Given the description of an element on the screen output the (x, y) to click on. 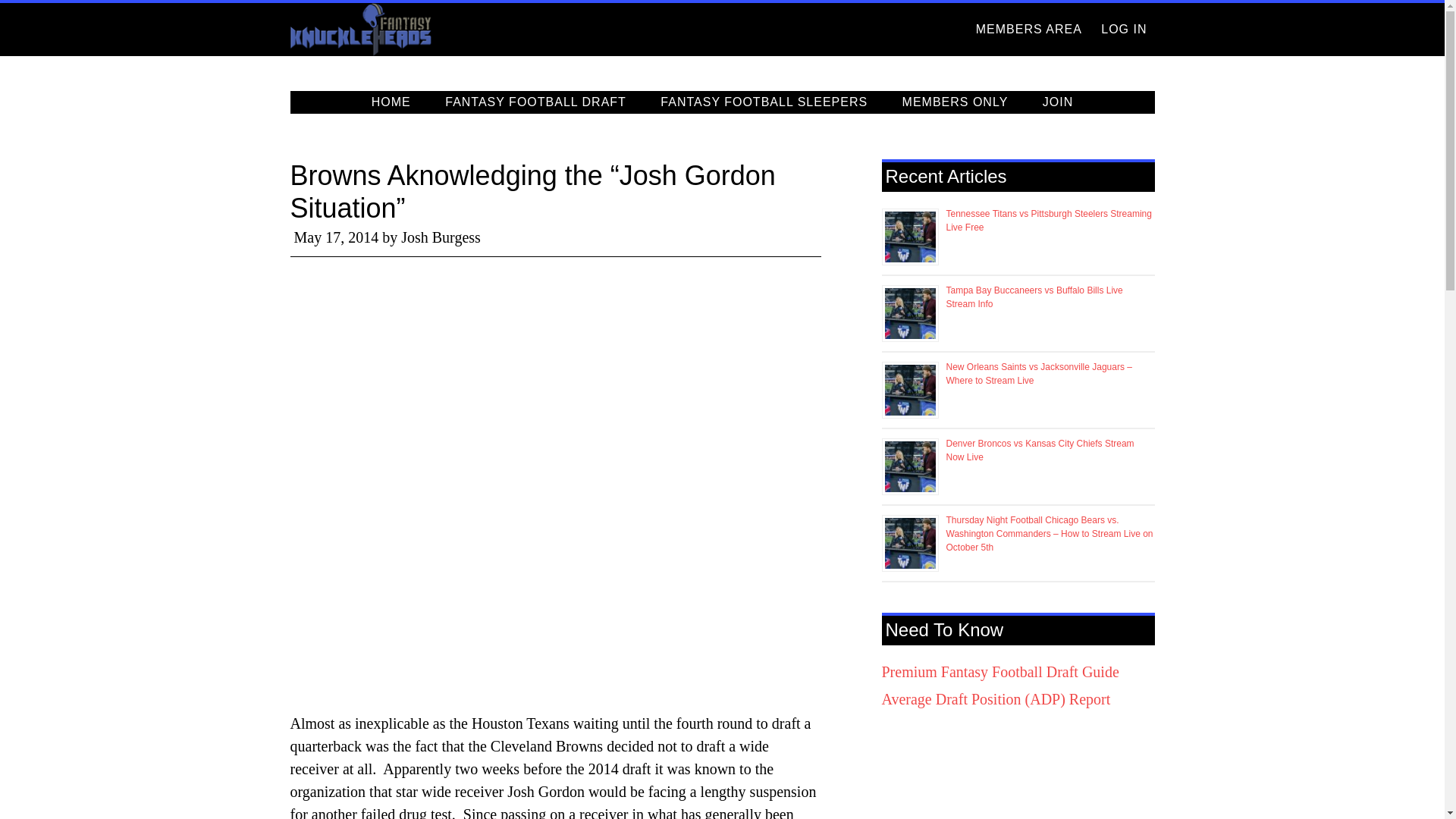
MEMBERS AREA (1028, 29)
JOIN (1057, 101)
Premium Fantasy Football Draft Guide 2017 (999, 671)
Tennessee Titans vs Pittsburgh Steelers Streaming Live Free (1048, 220)
Premium Fantasy Football Draft Guide (999, 671)
Denver Broncos vs Kansas City Chiefs Stream Now Live (1040, 450)
Tampa Bay Buccaneers vs Buffalo Bills Live Stream Info (1034, 297)
FANTASY FOOTBALL DRAFT (535, 101)
MEMBERS ONLY (954, 101)
FANTASY FOOTBALL SLEEPERS (763, 101)
FANTASY KNUCKLEHEADS (425, 29)
HOME (391, 101)
LOG IN (1123, 29)
